Given the description of an element on the screen output the (x, y) to click on. 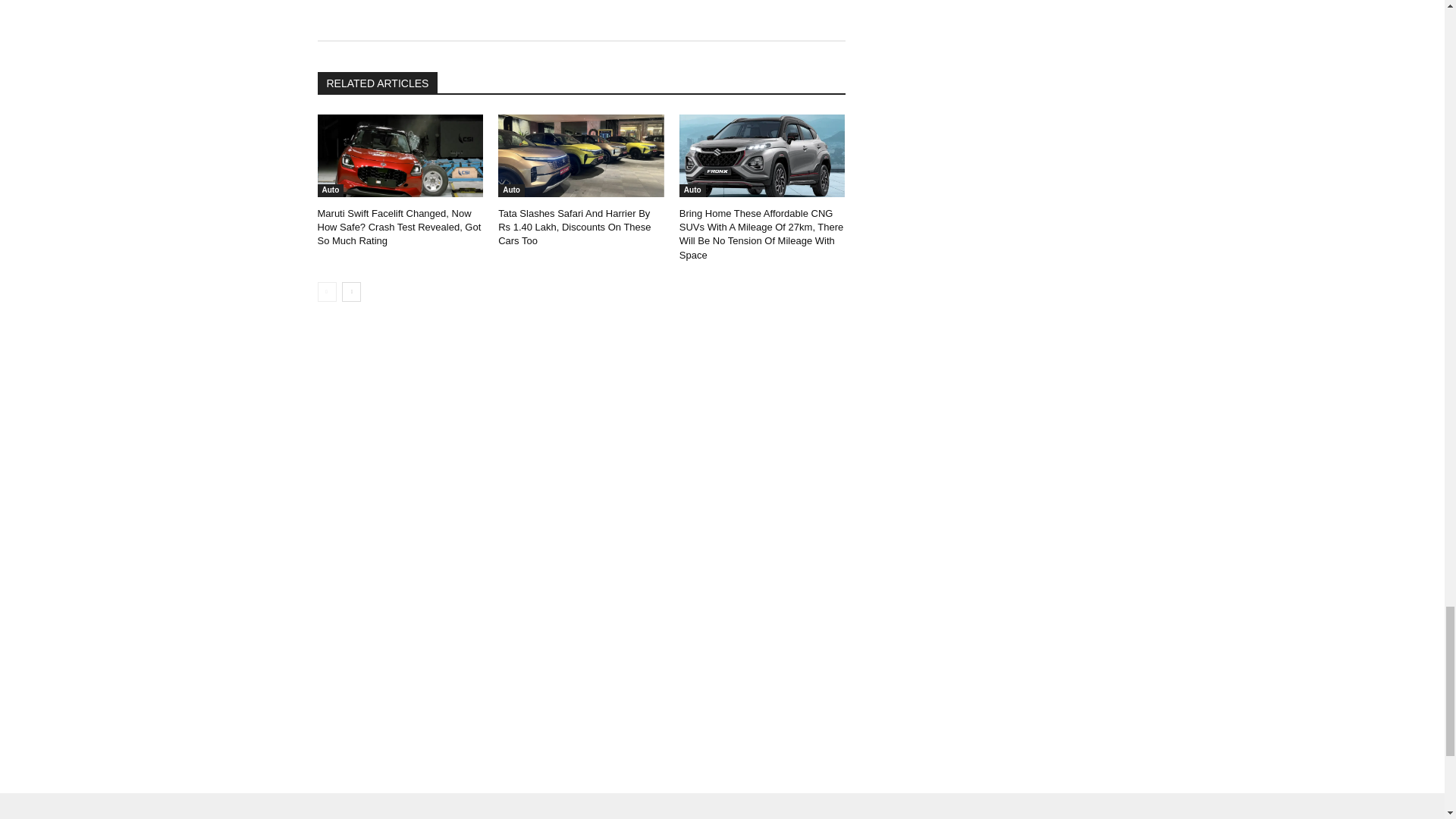
Auto (330, 190)
